Given the description of an element on the screen output the (x, y) to click on. 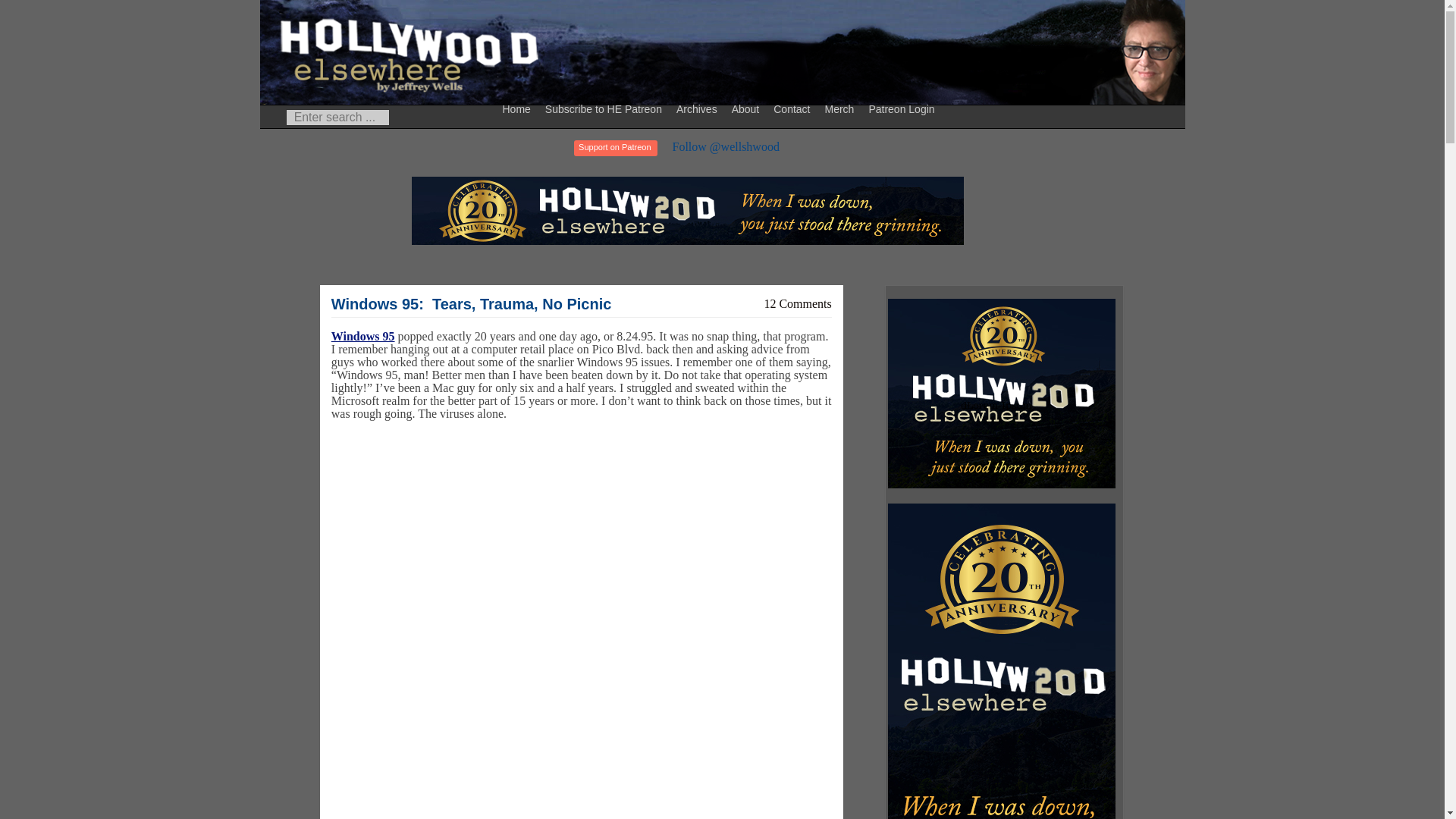
Windows 95:  Tears, Trauma, No Picnic (471, 303)
Windows 95 (362, 336)
Support on Patreon (614, 148)
12 Comments (796, 303)
Archives (698, 108)
Subscribe to HE Patreon (605, 108)
Contact (793, 108)
About (747, 108)
Merch (841, 108)
